Given the description of an element on the screen output the (x, y) to click on. 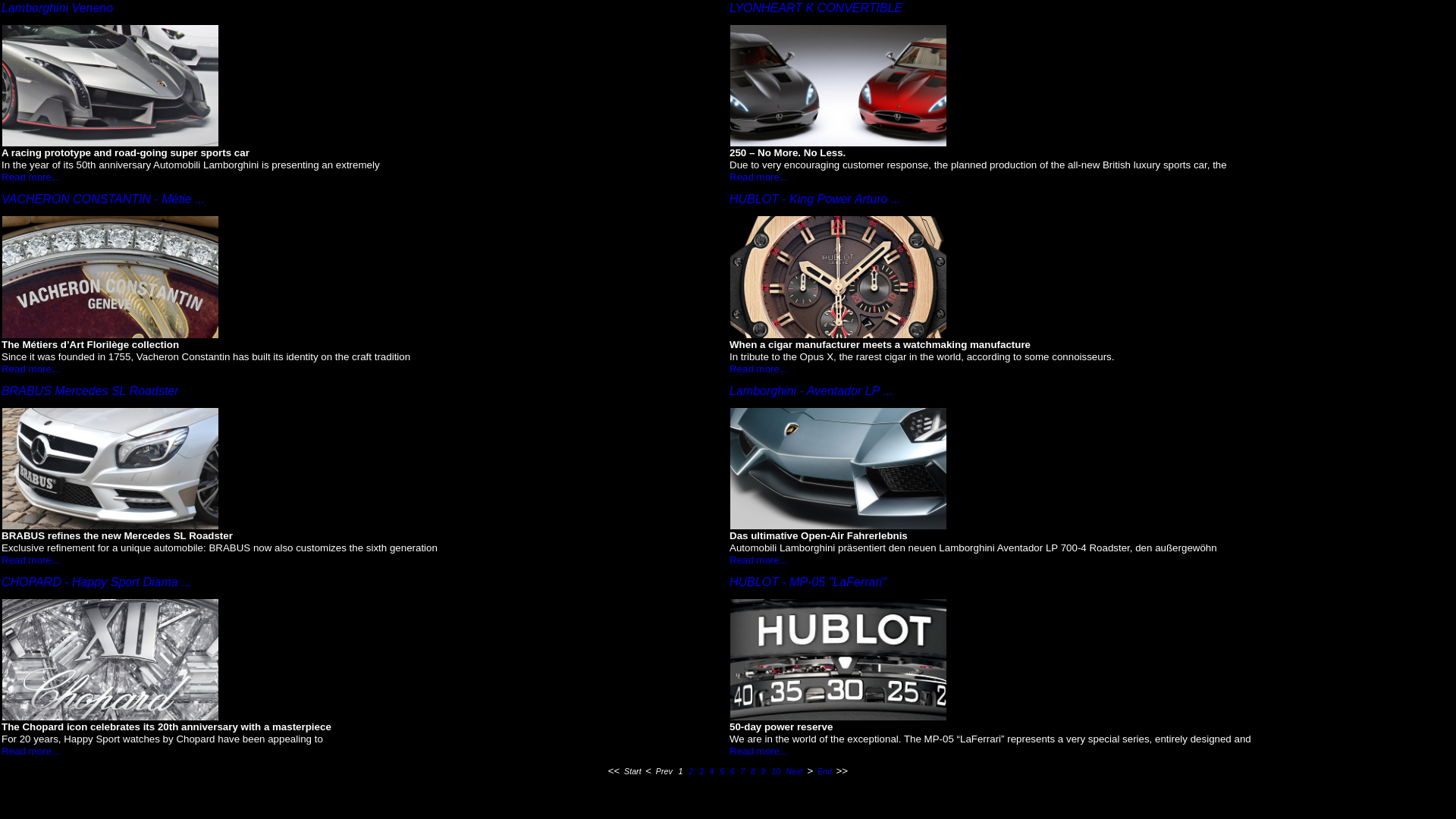
Read more... Element type: text (30, 559)
Read more... Element type: text (30, 368)
LYONHEART K CONVERTIBLE Element type: text (815, 7)
Read more... Element type: text (758, 368)
3 Element type: text (701, 770)
5 Element type: text (721, 770)
HUBLOT - MP-05 "LaFerrari" Element type: text (807, 581)
CHOPARD - Happy Sport Diama ... Element type: text (96, 581)
Read more... Element type: text (758, 750)
Read more... Element type: text (758, 559)
Next Element type: text (794, 770)
Read more... Element type: text (758, 176)
6 Element type: text (732, 770)
Read more... Element type: text (30, 750)
10 Element type: text (775, 770)
HUBLOT - King Power Arturo ... Element type: text (814, 198)
BRABUS Mercedes SL Roadster Element type: text (89, 390)
8 Element type: text (752, 770)
7 Element type: text (742, 770)
2 Element type: text (690, 770)
4 Element type: text (711, 770)
Lamborghini Veneno Element type: text (56, 7)
Lamborghini - Aventador LP ... Element type: text (811, 390)
Read more... Element type: text (30, 176)
9 Element type: text (763, 770)
End Element type: text (824, 770)
